Given the description of an element on the screen output the (x, y) to click on. 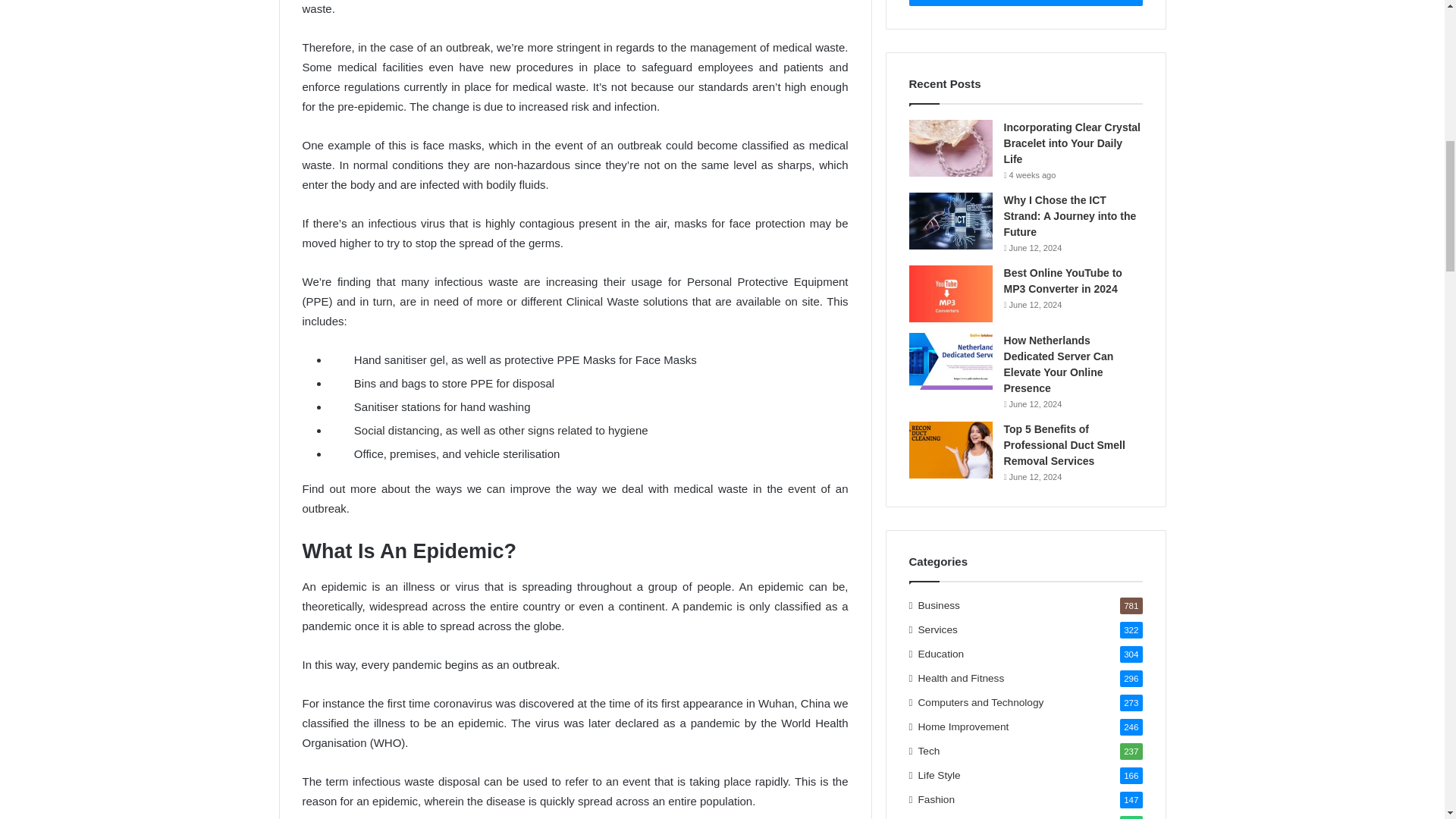
Subscribe (1025, 2)
